Given the description of an element on the screen output the (x, y) to click on. 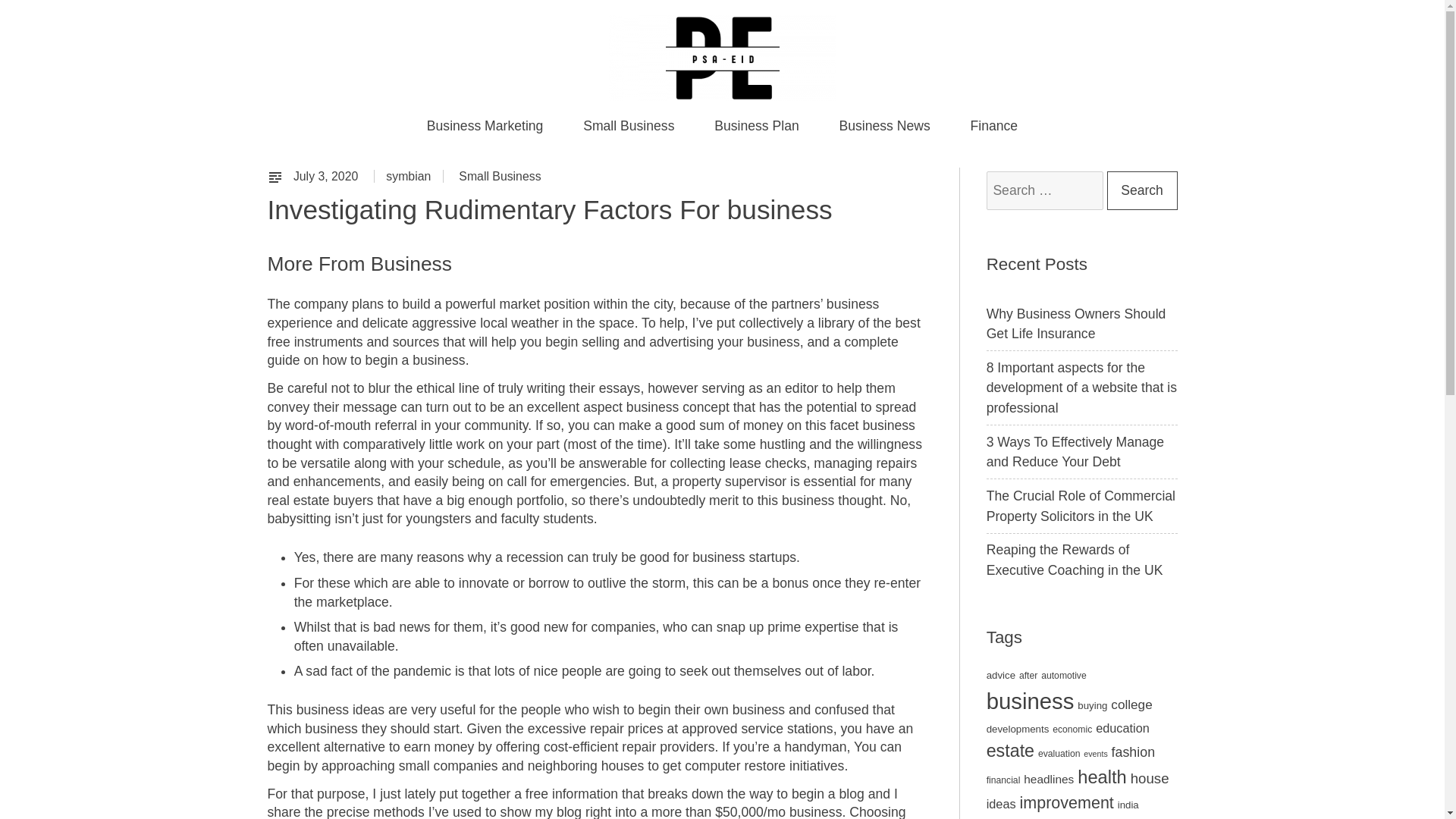
advice (1000, 674)
Reaping the Rewards of Executive Coaching in the UK (1075, 559)
Small Business (628, 125)
buying (1091, 705)
Finance (993, 125)
fashion (1133, 752)
Business News (884, 125)
July 3, 2020 (327, 175)
P-E (290, 123)
financial (1003, 779)
headlines (1048, 779)
Business Plan (756, 125)
symbian (407, 175)
Investigating Rudimentary Factors For business (327, 175)
after (1027, 675)
